Given the description of an element on the screen output the (x, y) to click on. 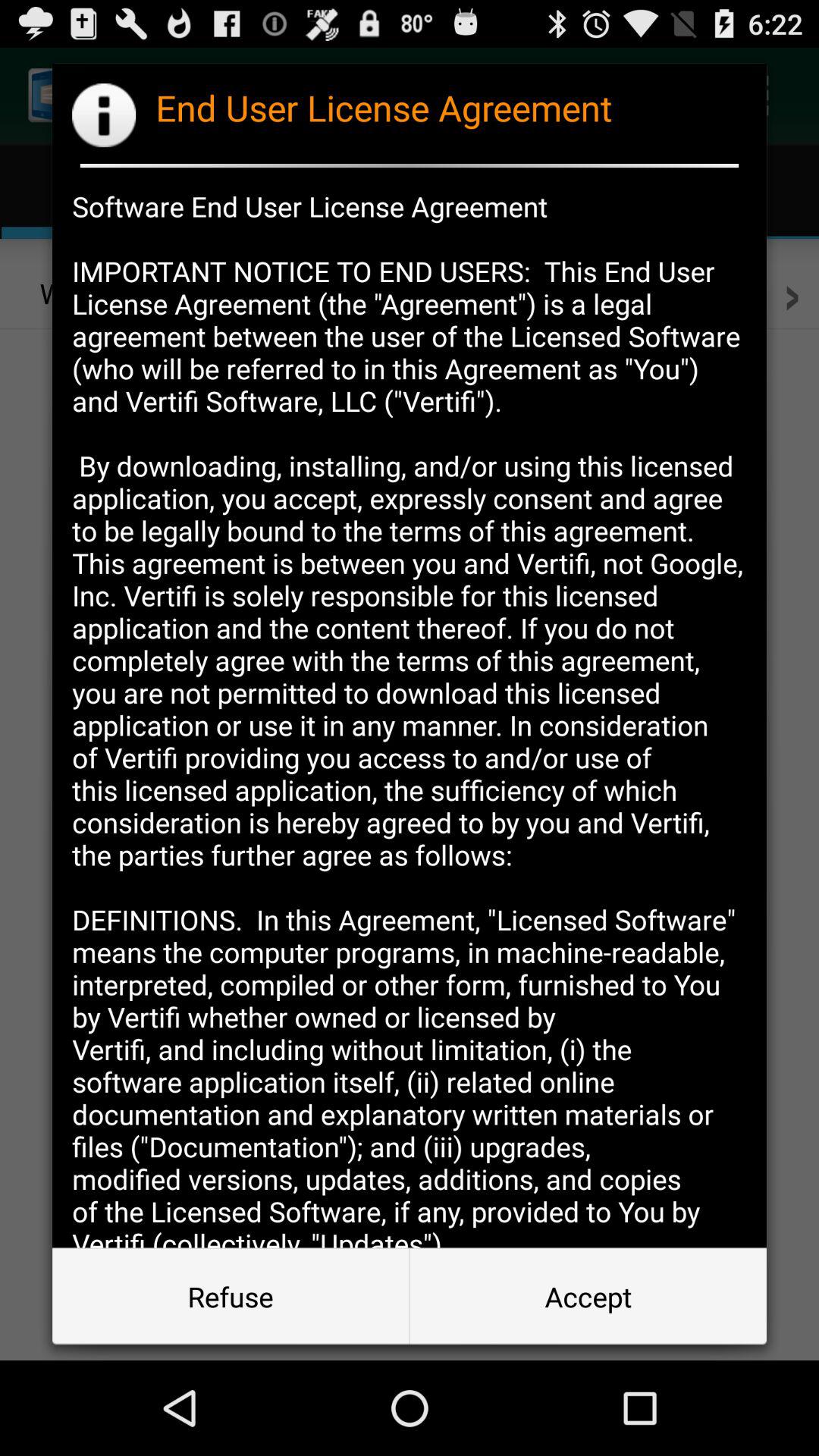
turn off icon at the bottom right corner (588, 1296)
